Given the description of an element on the screen output the (x, y) to click on. 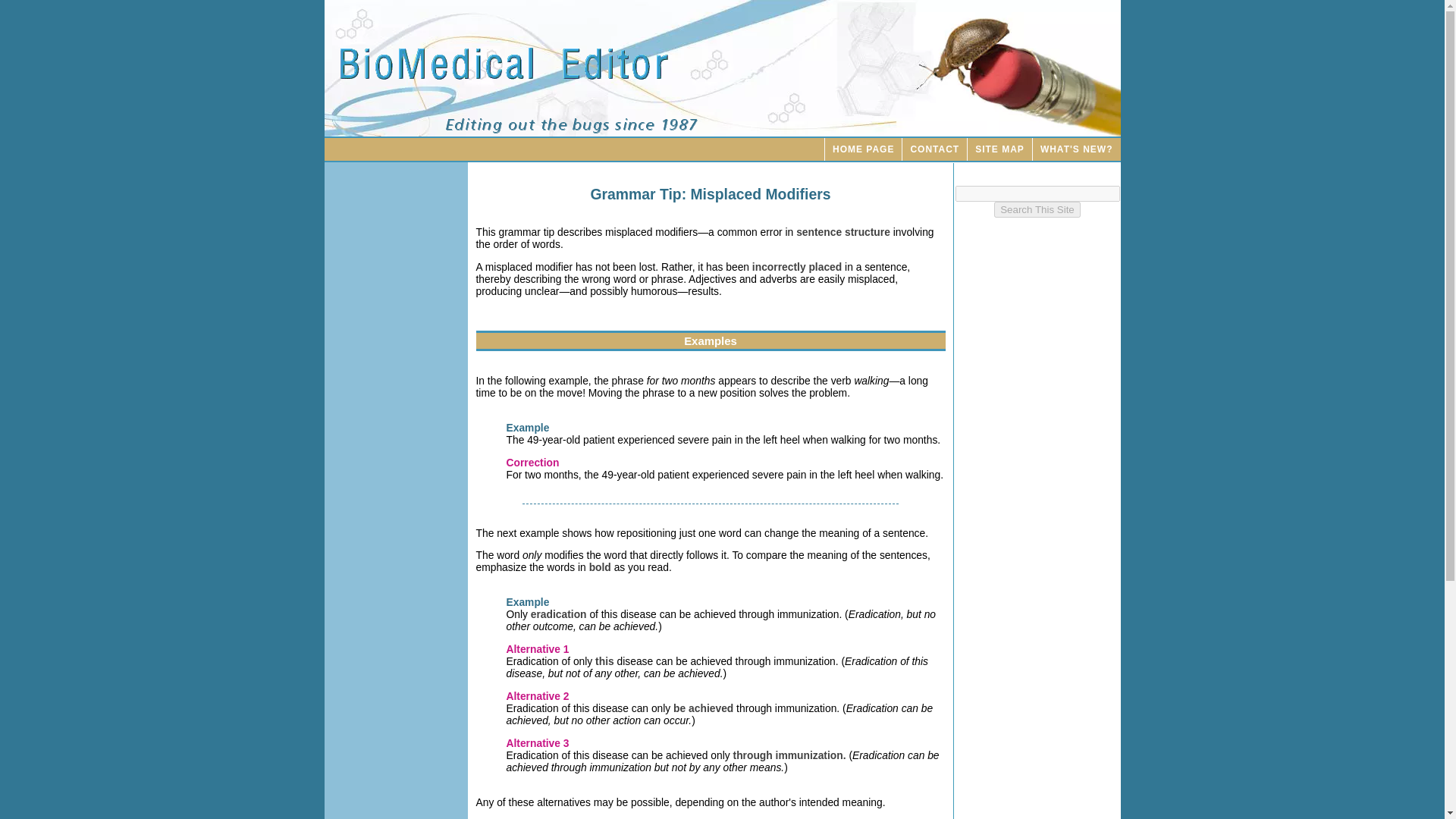
WHAT'S NEW? (1076, 149)
Search This Site (1037, 209)
SITE MAP (999, 149)
Search This Site (1037, 209)
CONTACT (933, 149)
HOME PAGE (862, 149)
